Given the description of an element on the screen output the (x, y) to click on. 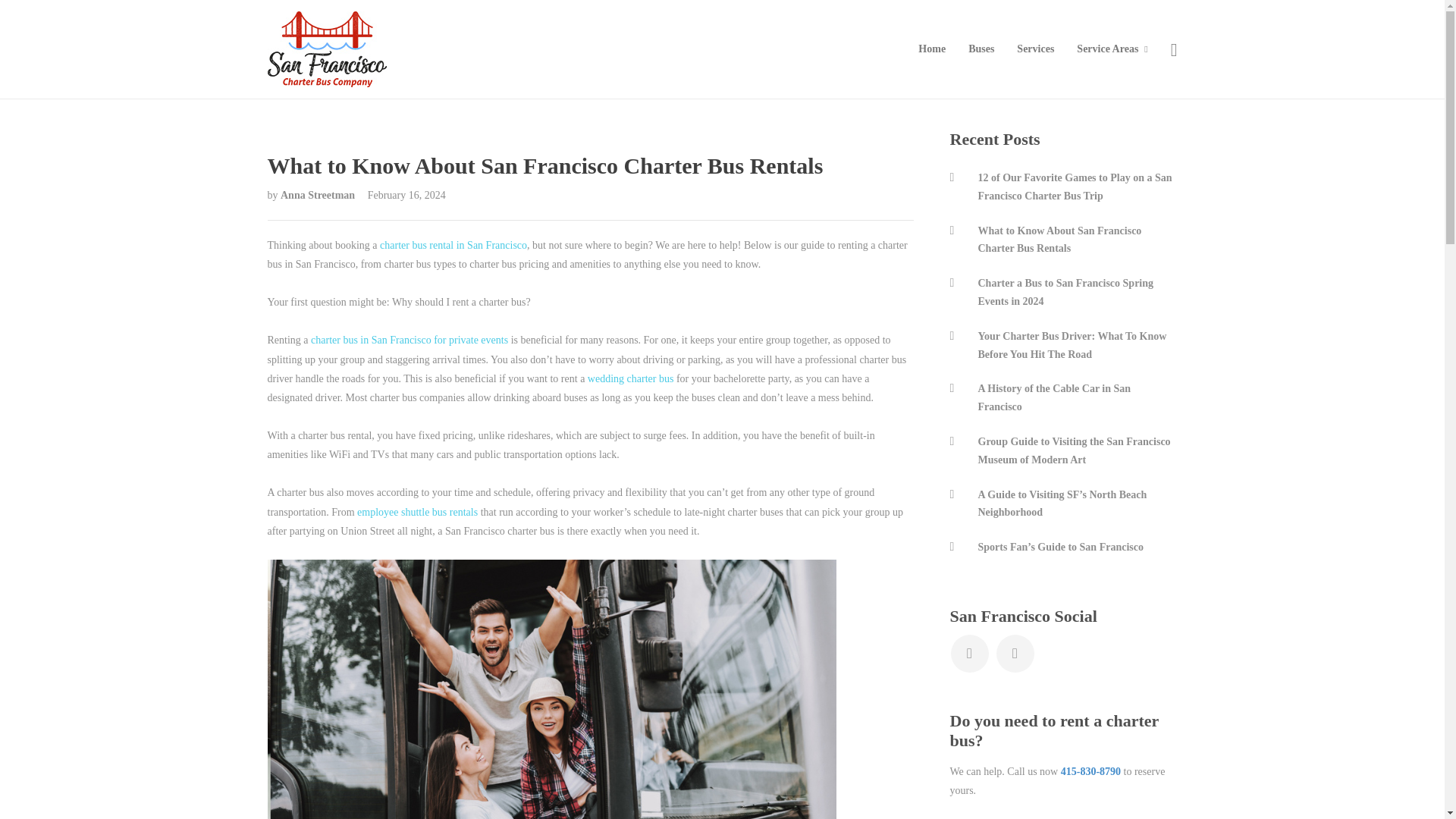
Service Areas (1112, 48)
What to Know About San Francisco Charter Bus Rentals (589, 160)
employee shuttle bus rentals (416, 511)
charter bus rental in San Francisco (453, 244)
Anna Streetman (319, 194)
February 16, 2024 (401, 194)
charter bus in San Francisco for private events (409, 339)
wedding charter bus (631, 378)
